Given the description of an element on the screen output the (x, y) to click on. 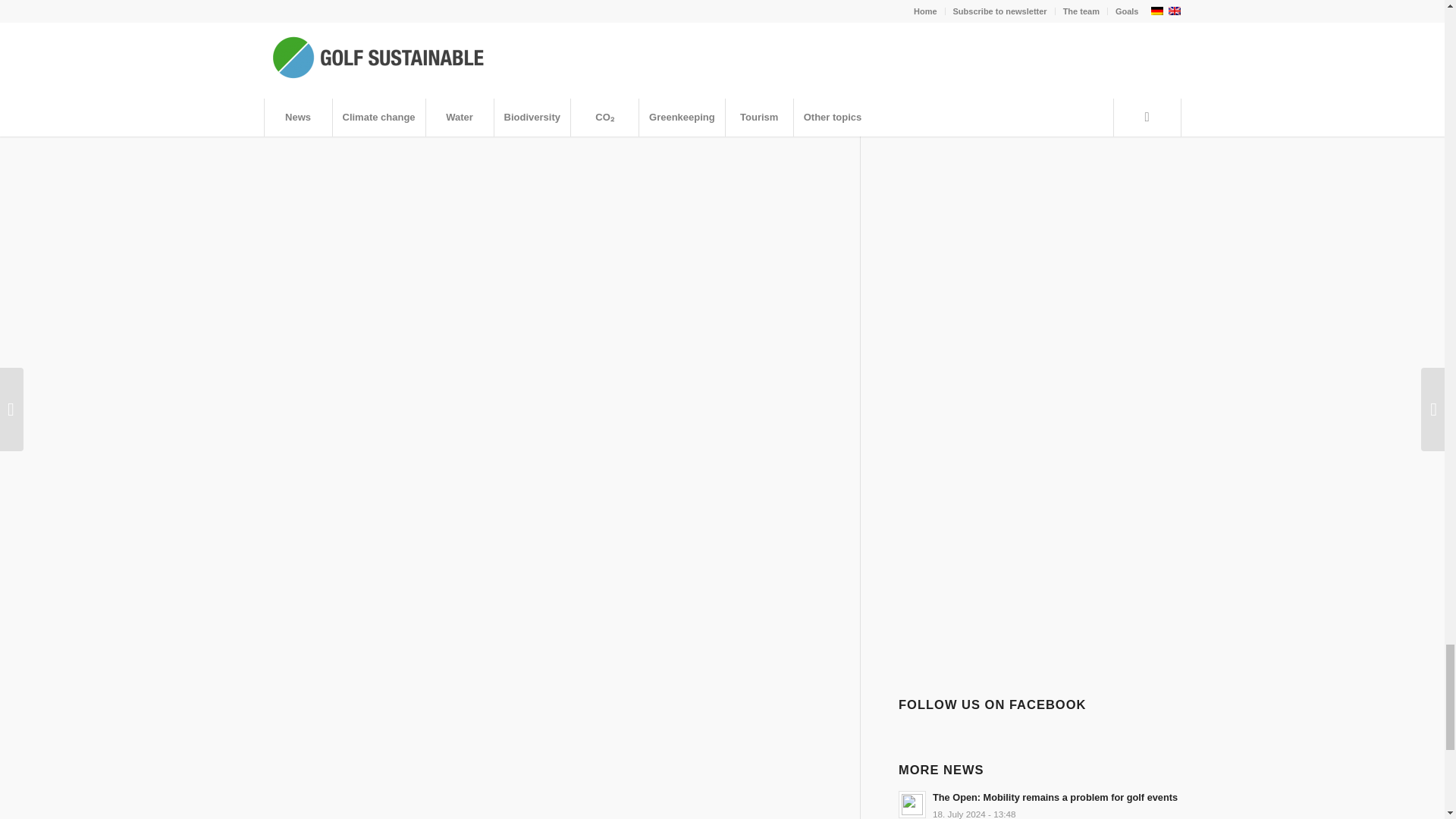
Read: The Open: Mobility remains a problem for golf events (912, 804)
